Given the description of an element on the screen output the (x, y) to click on. 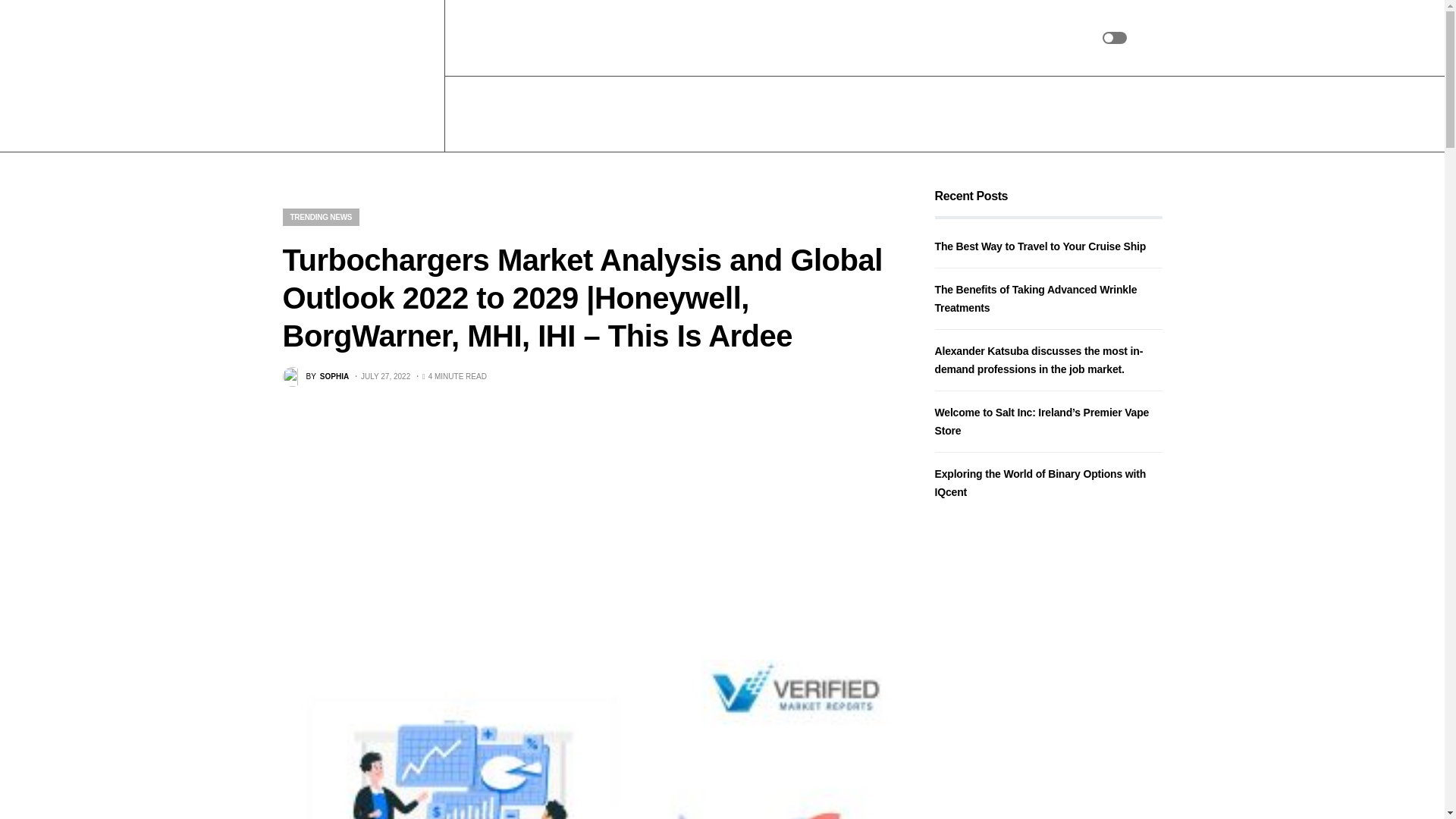
View all posts by Sophia (315, 376)
Advertisement (585, 522)
Radar Magazine (355, 75)
